Given the description of an element on the screen output the (x, y) to click on. 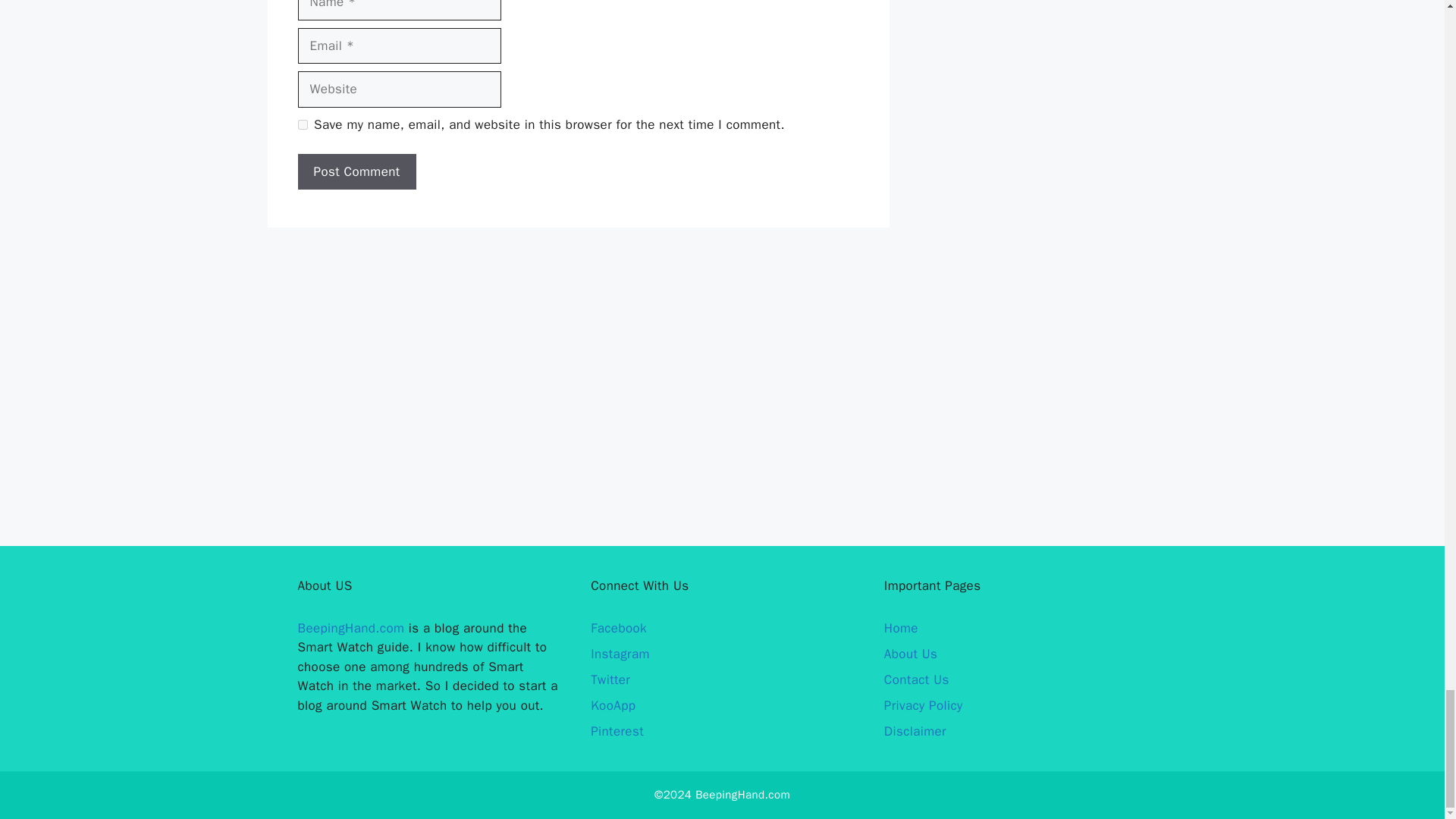
Pinterest (617, 731)
KooApp (612, 705)
Post Comment (355, 171)
Instagram (620, 653)
BeepingHand.com (350, 627)
Facebook (618, 627)
Twitter (610, 679)
Post Comment (355, 171)
yes (302, 124)
